Given the description of an element on the screen output the (x, y) to click on. 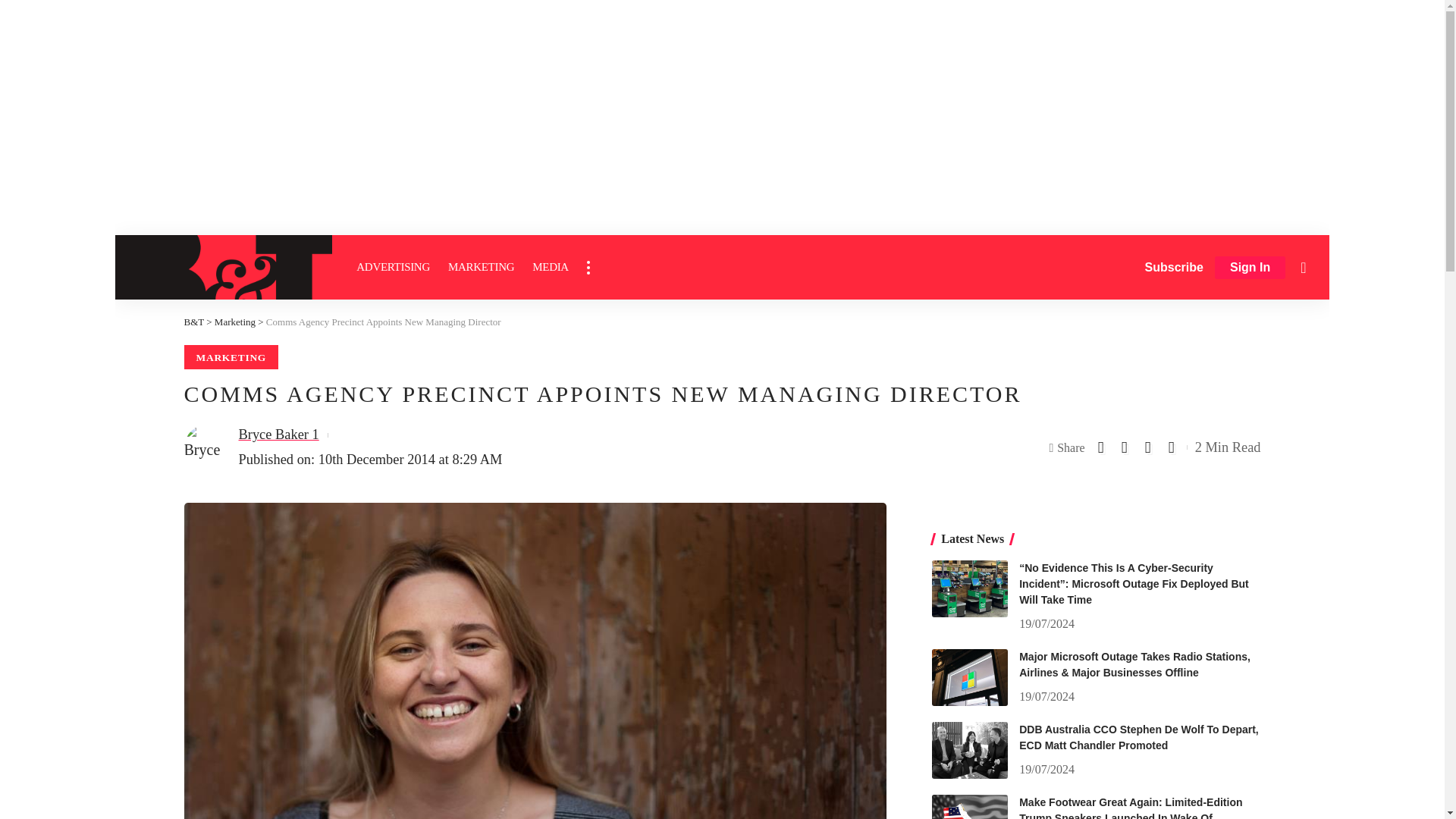
Go to the Marketing Category archives. (235, 321)
MARKETING (480, 267)
Sign In (1249, 267)
ADVERTISING (393, 267)
Subscribe (1174, 267)
